Given the description of an element on the screen output the (x, y) to click on. 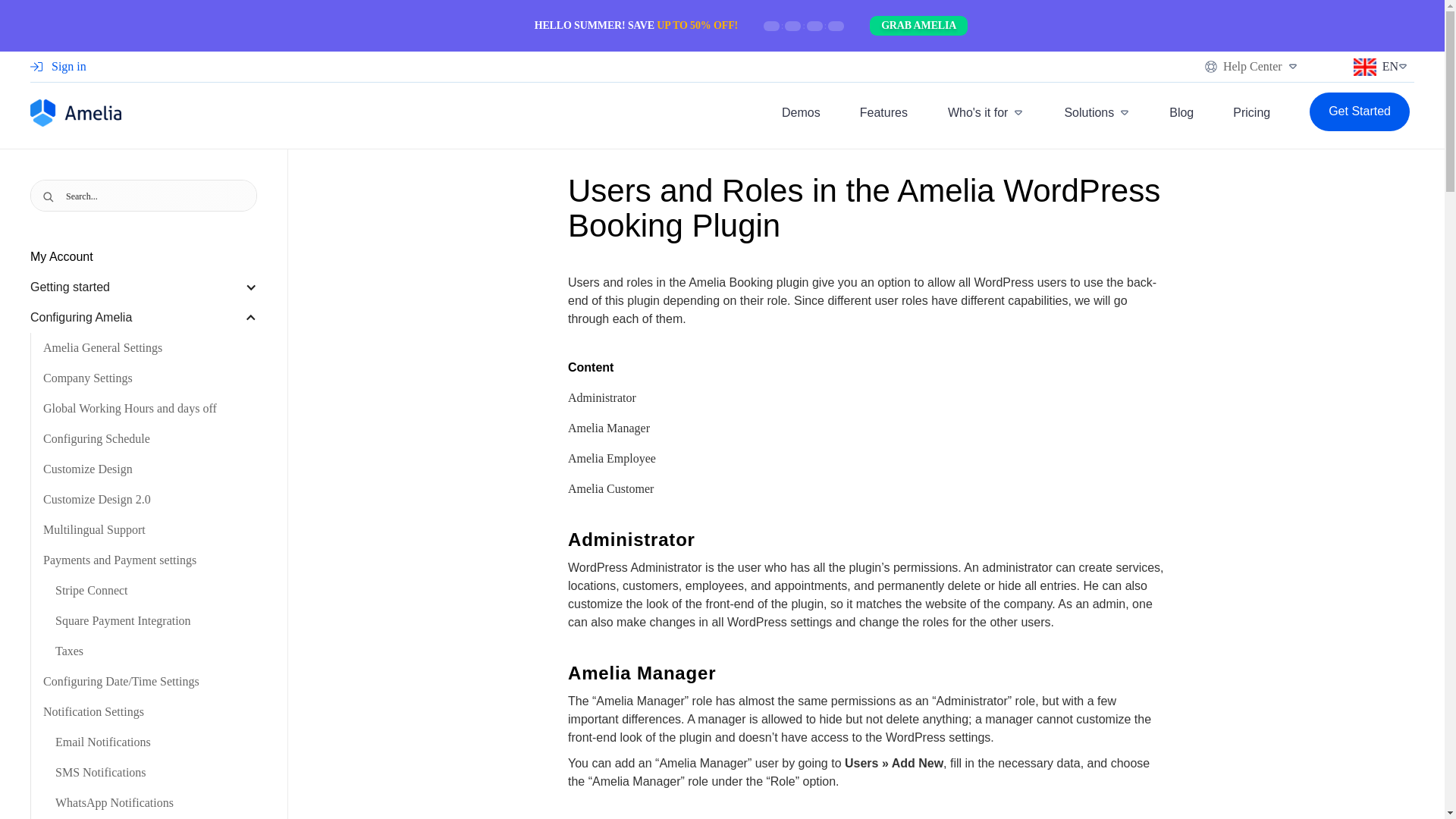
Sign in (57, 7)
Pricing (1251, 112)
Get Started (1358, 111)
Demos (801, 92)
Features (883, 98)
GRAB AMELIA (918, 25)
